Given the description of an element on the screen output the (x, y) to click on. 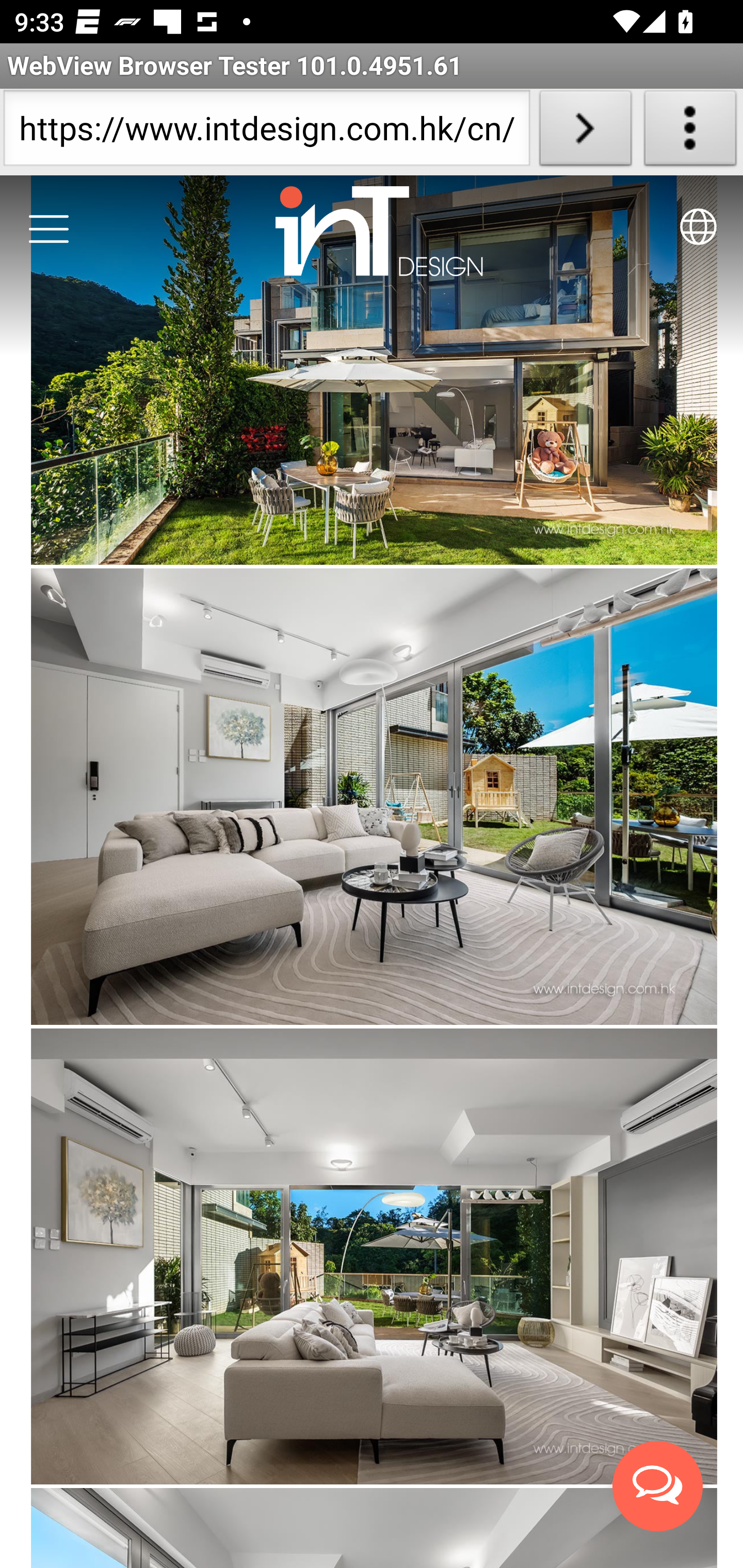
Load URL (585, 132)
About WebView (690, 132)
TheWoods_interiordesign_4 (373, 798)
TheWoods_interiordesign_3 (373, 1257)
Open messengers list (657, 1487)
